Given the description of an element on the screen output the (x, y) to click on. 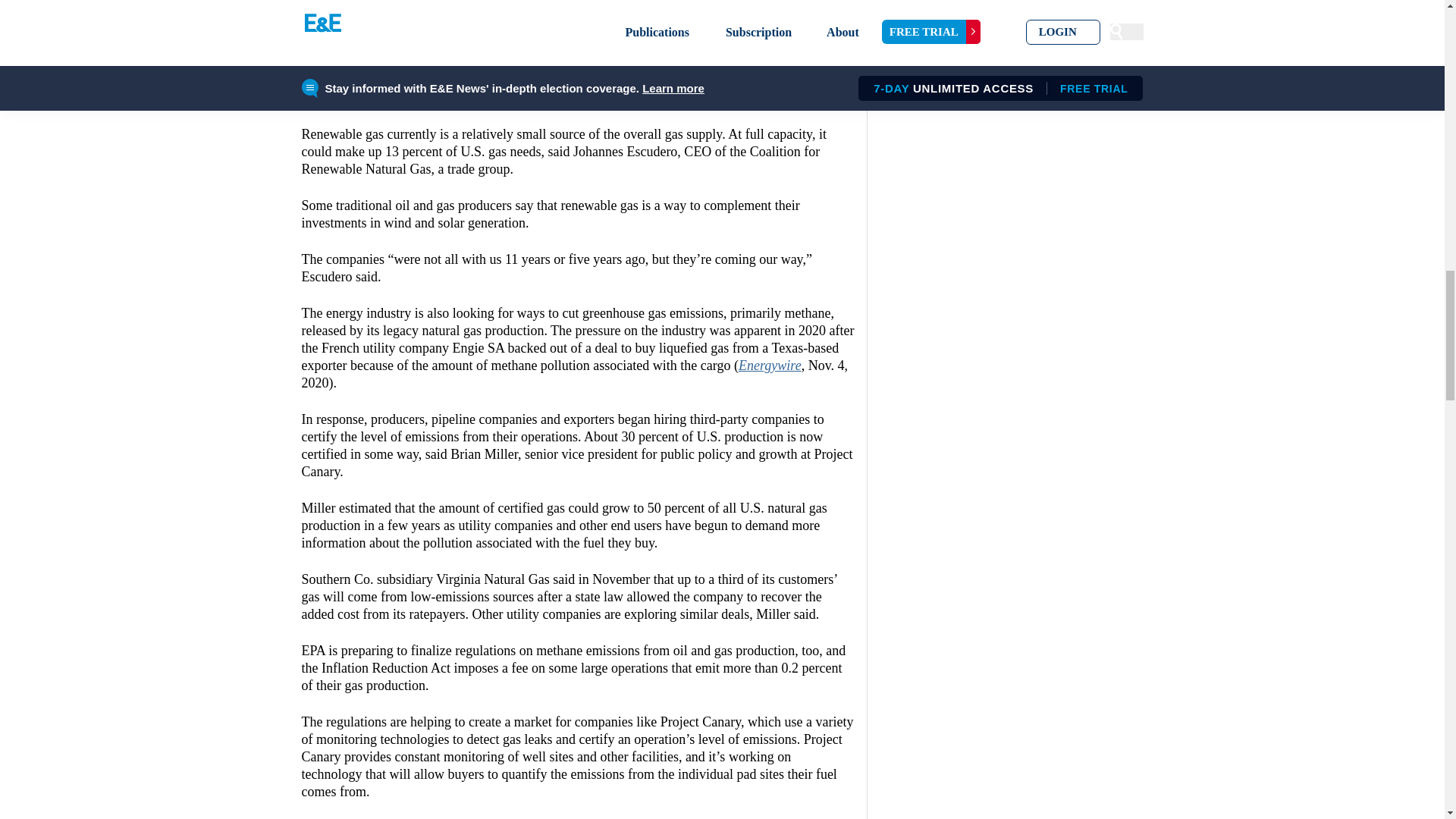
Energywire (770, 365)
Energywire (337, 26)
